Given the description of an element on the screen output the (x, y) to click on. 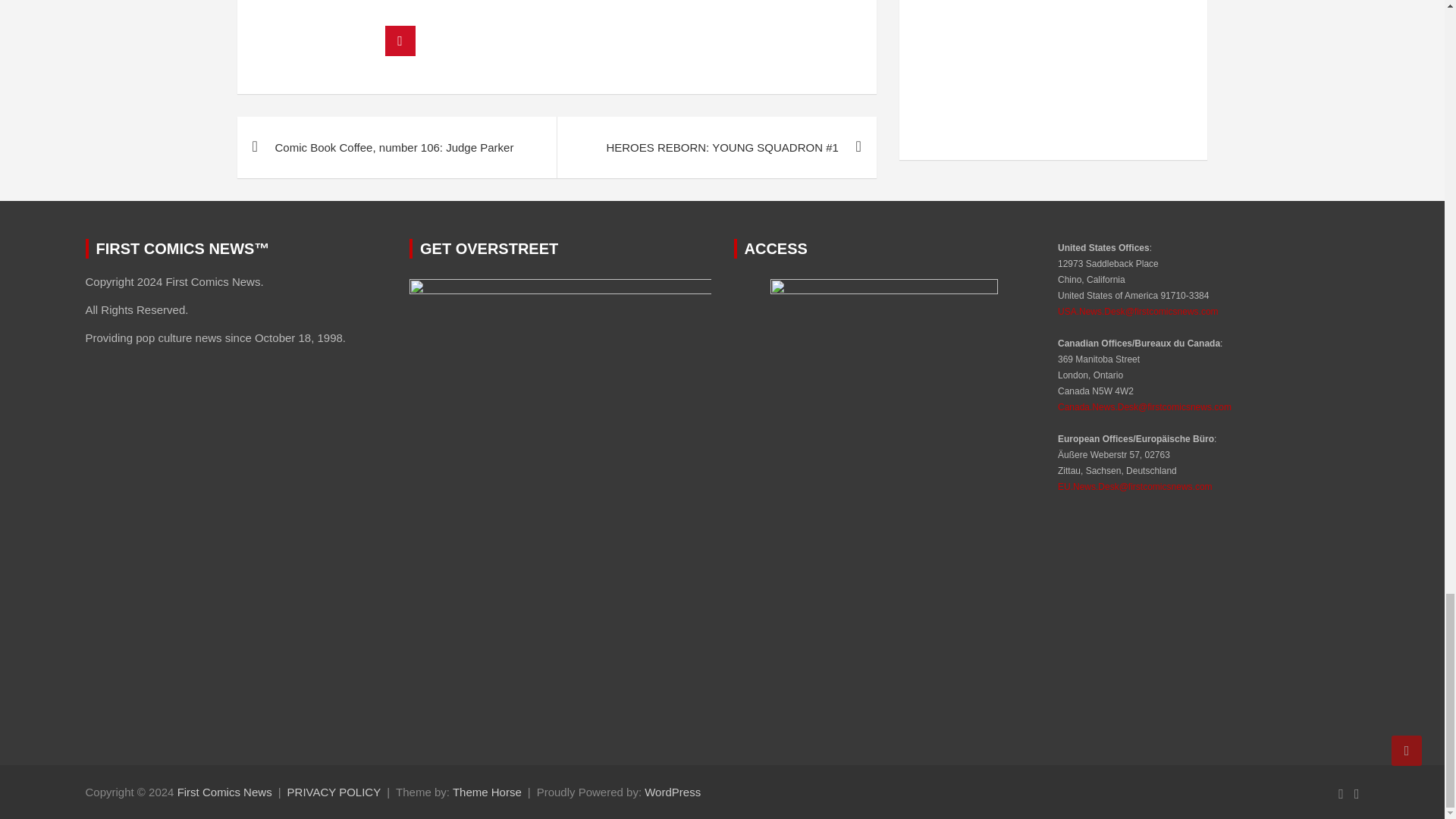
First Comics News (224, 791)
Theme Horse (486, 791)
WordPress (672, 791)
